Given the description of an element on the screen output the (x, y) to click on. 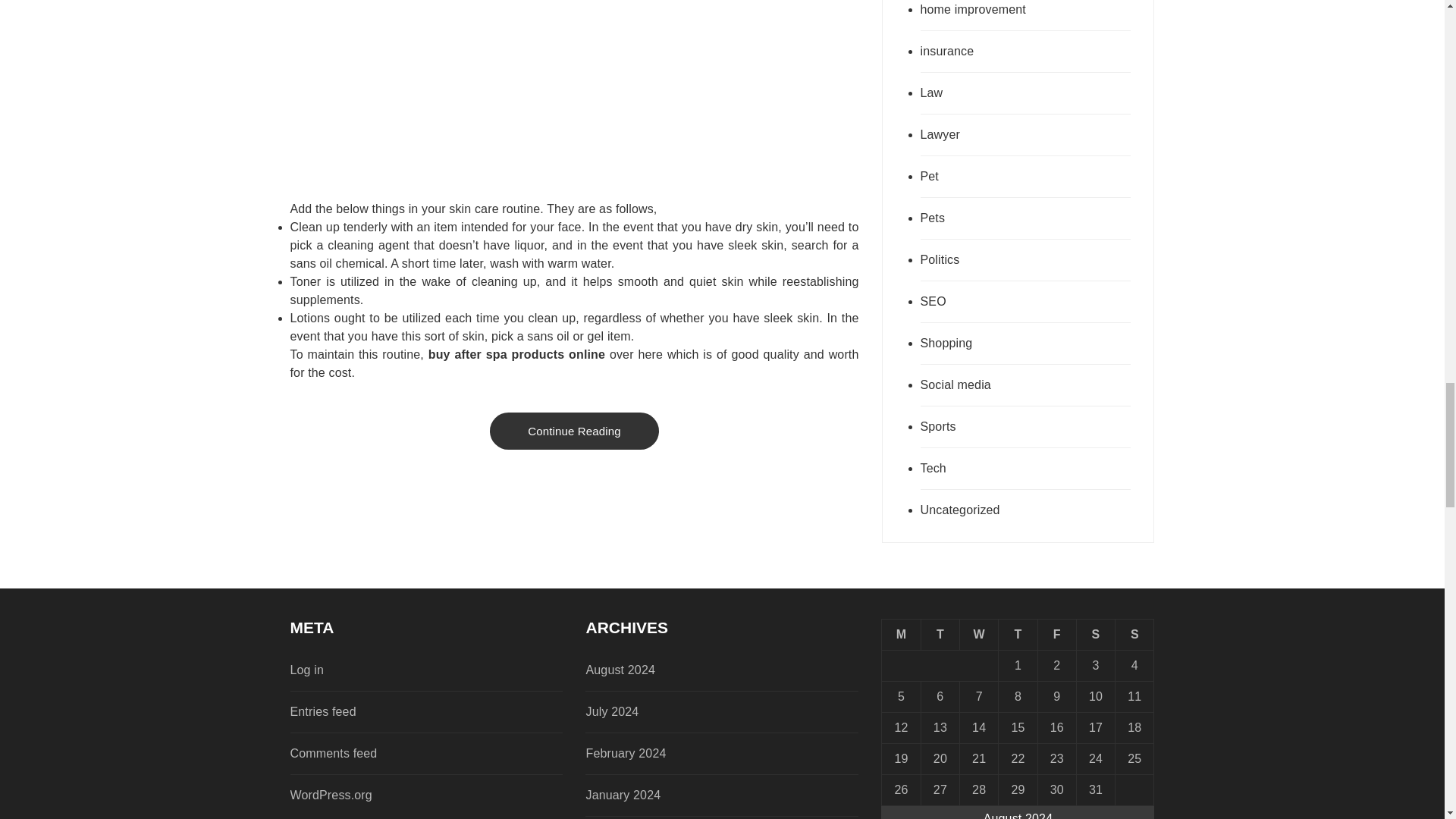
Continue Reading (574, 430)
Sunday (1134, 634)
Tuesday (939, 634)
buy after spa products online (516, 354)
Friday (1055, 634)
Monday (901, 634)
Saturday (1095, 634)
Wednesday (978, 634)
Thursday (1017, 634)
